Given the description of an element on the screen output the (x, y) to click on. 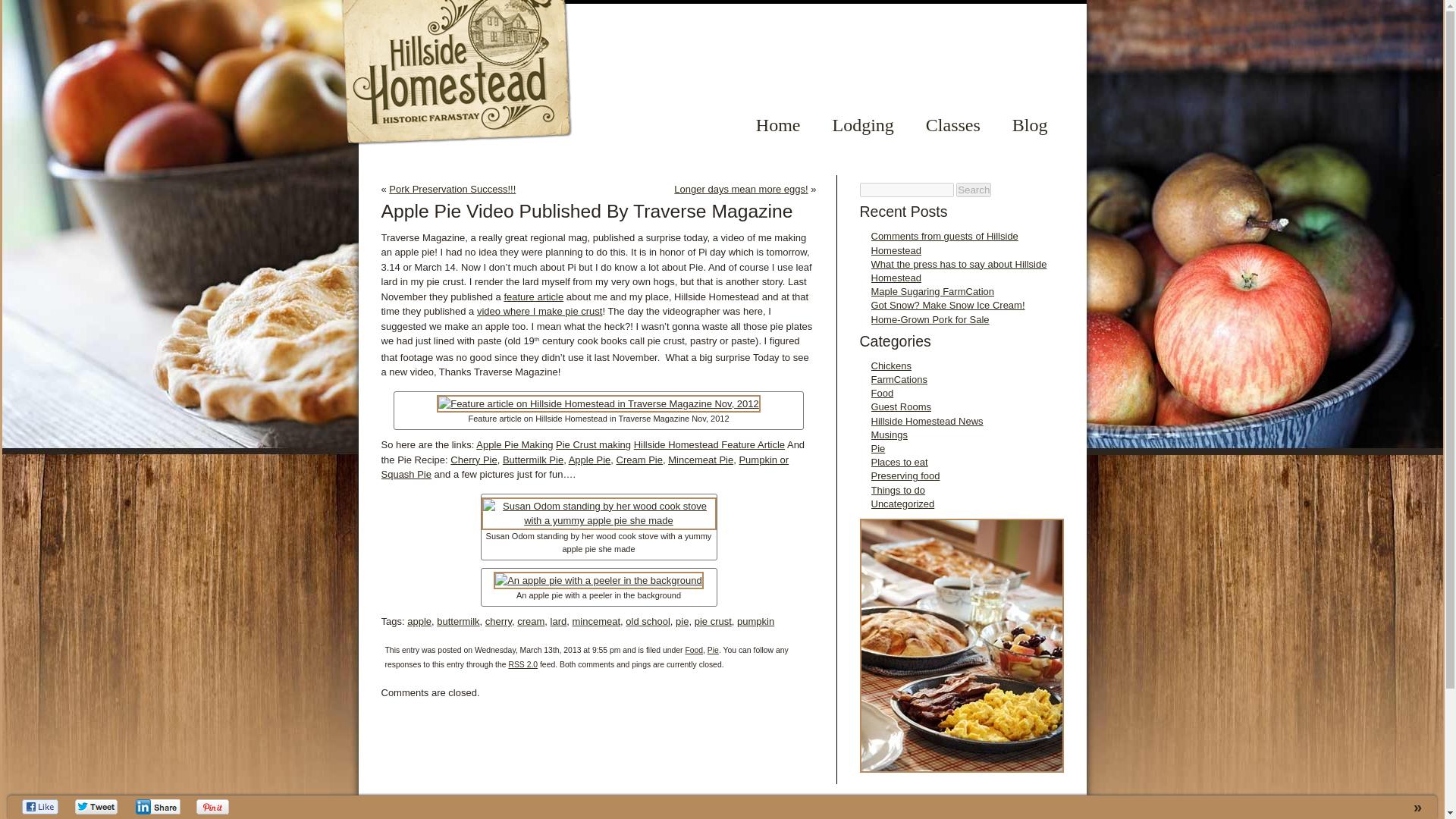
Classes (952, 120)
old school (647, 621)
Pie Crust Making Video (593, 444)
feature article (533, 296)
Cherry Pie (472, 460)
Pumpkin or Squash Pie (584, 467)
Blog (1029, 120)
Maple Sugaring FarmCation (932, 291)
lard (558, 621)
Lodging (862, 120)
